Given the description of an element on the screen output the (x, y) to click on. 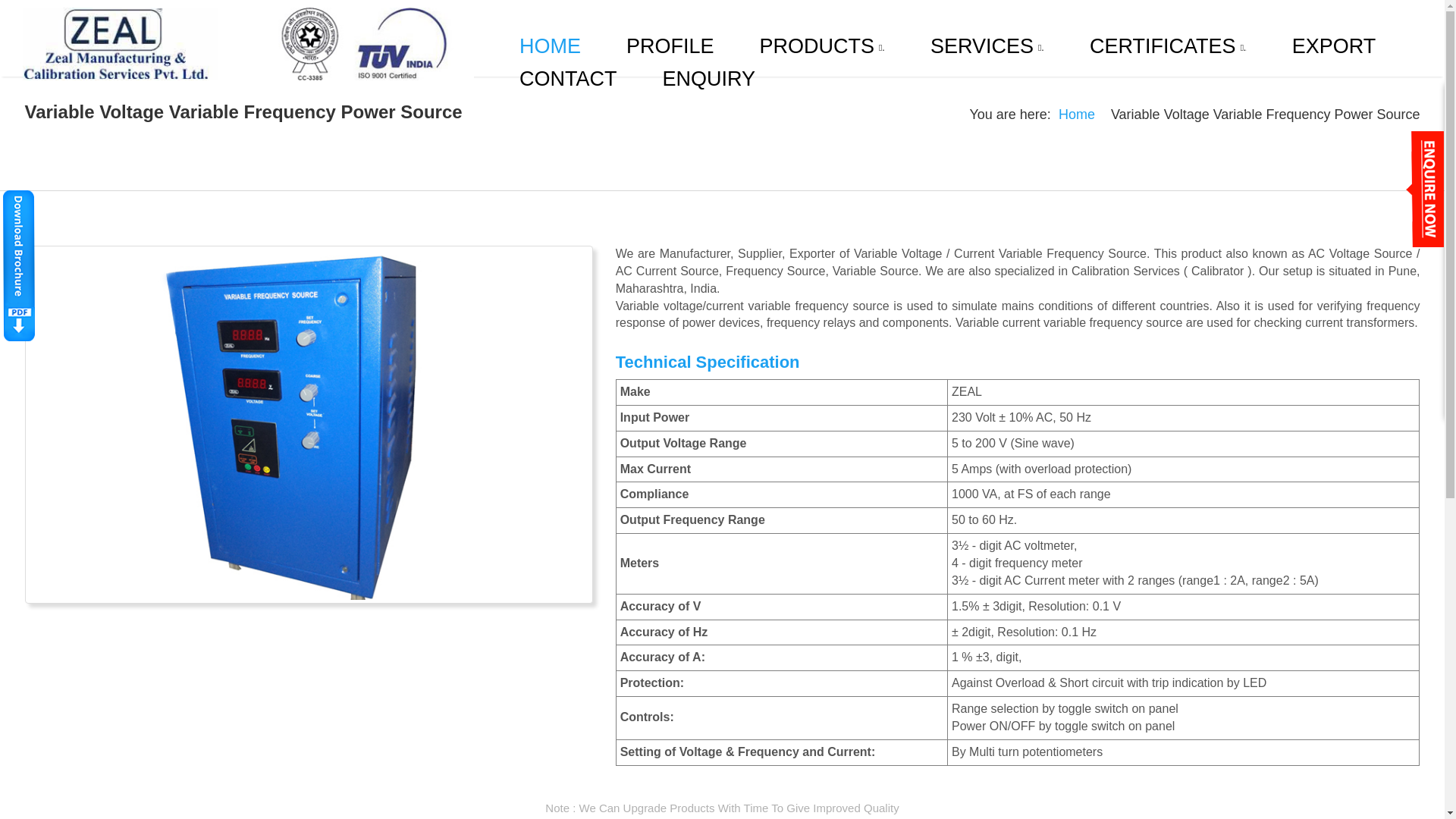
PROFILE (670, 46)
PRODUCTS... (822, 46)
HOME (550, 46)
